Given the description of an element on the screen output the (x, y) to click on. 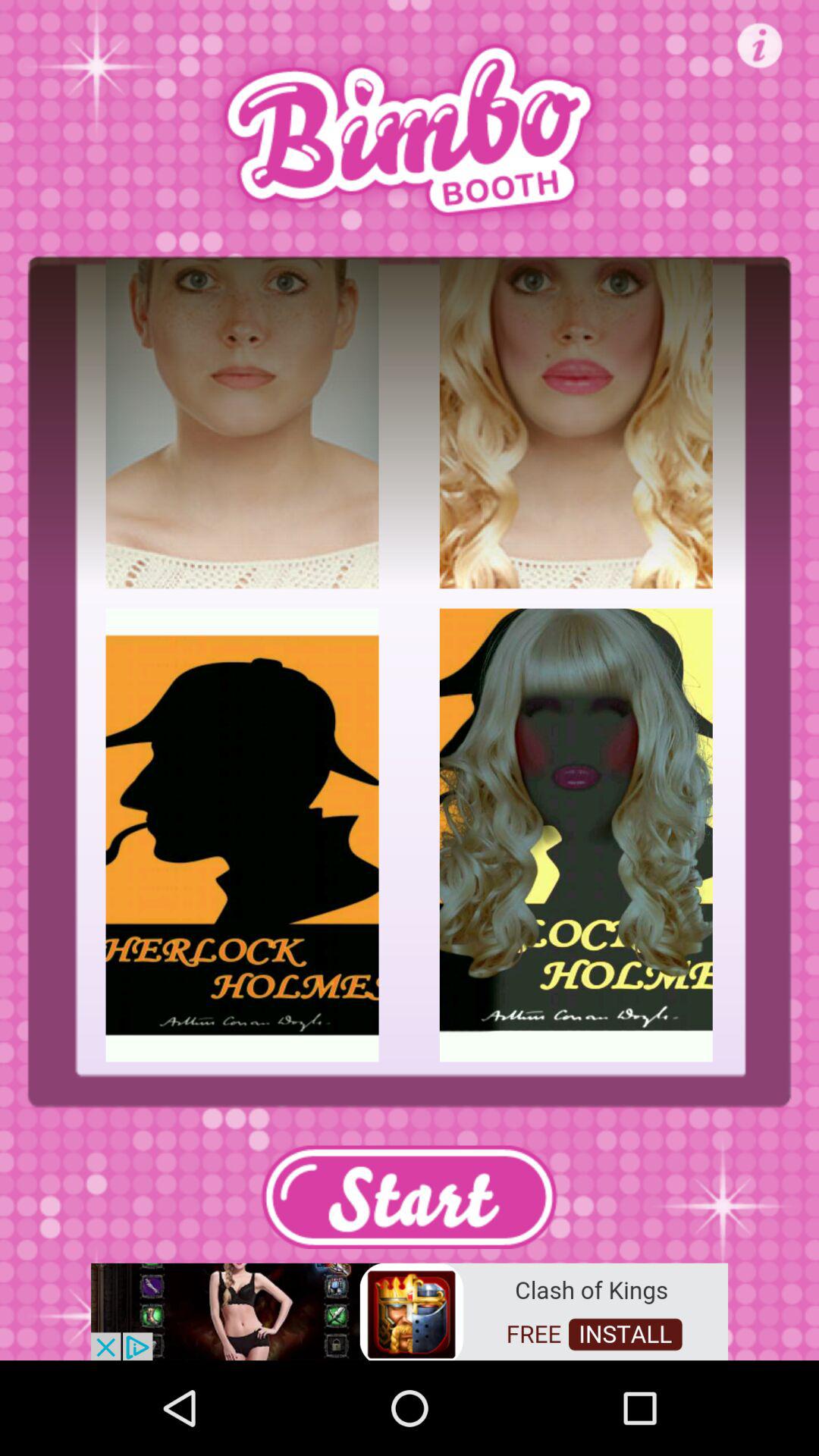
open info page (759, 45)
